Given the description of an element on the screen output the (x, y) to click on. 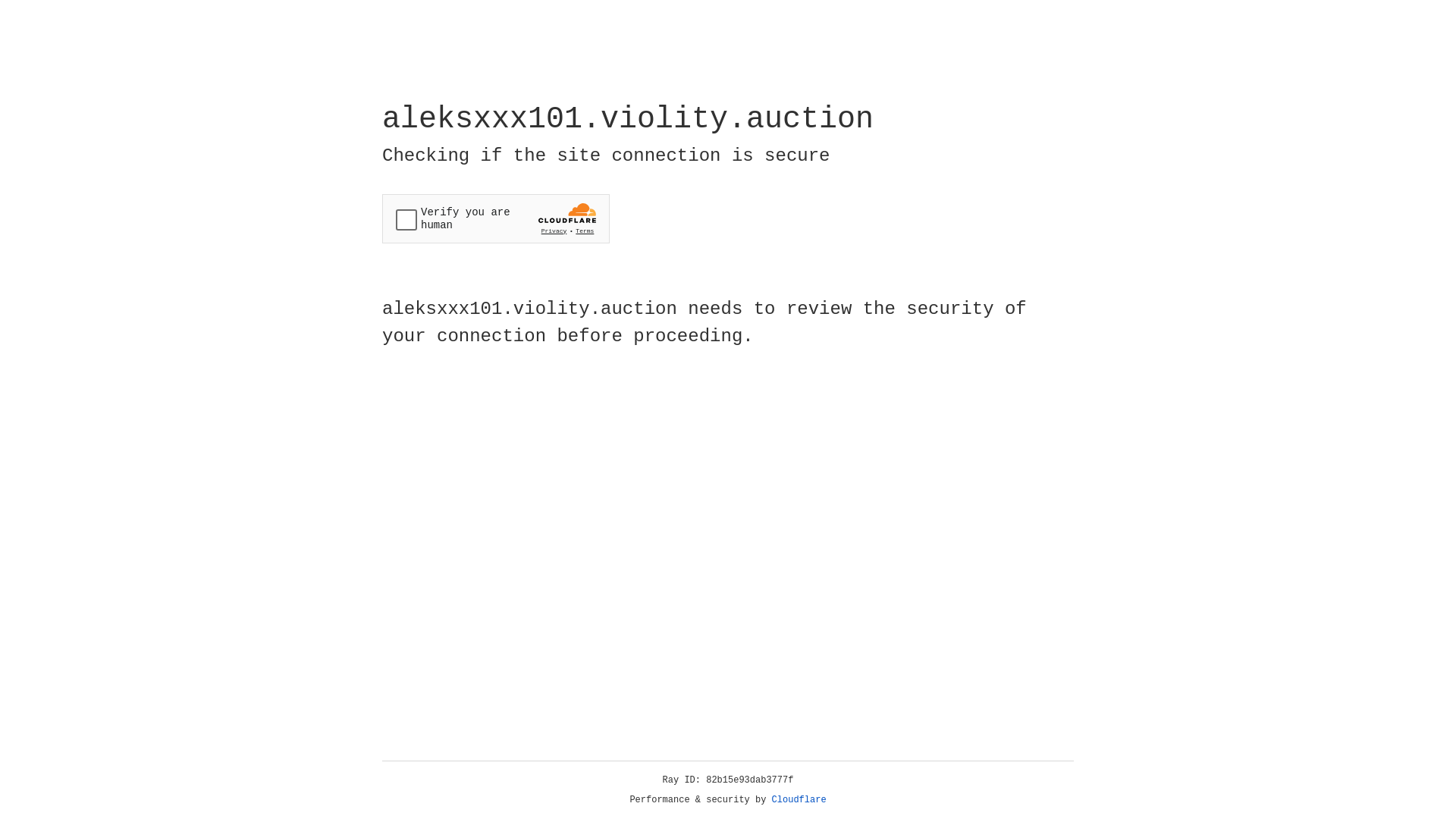
Widget containing a Cloudflare security challenge Element type: hover (495, 218)
Cloudflare Element type: text (798, 799)
